Given the description of an element on the screen output the (x, y) to click on. 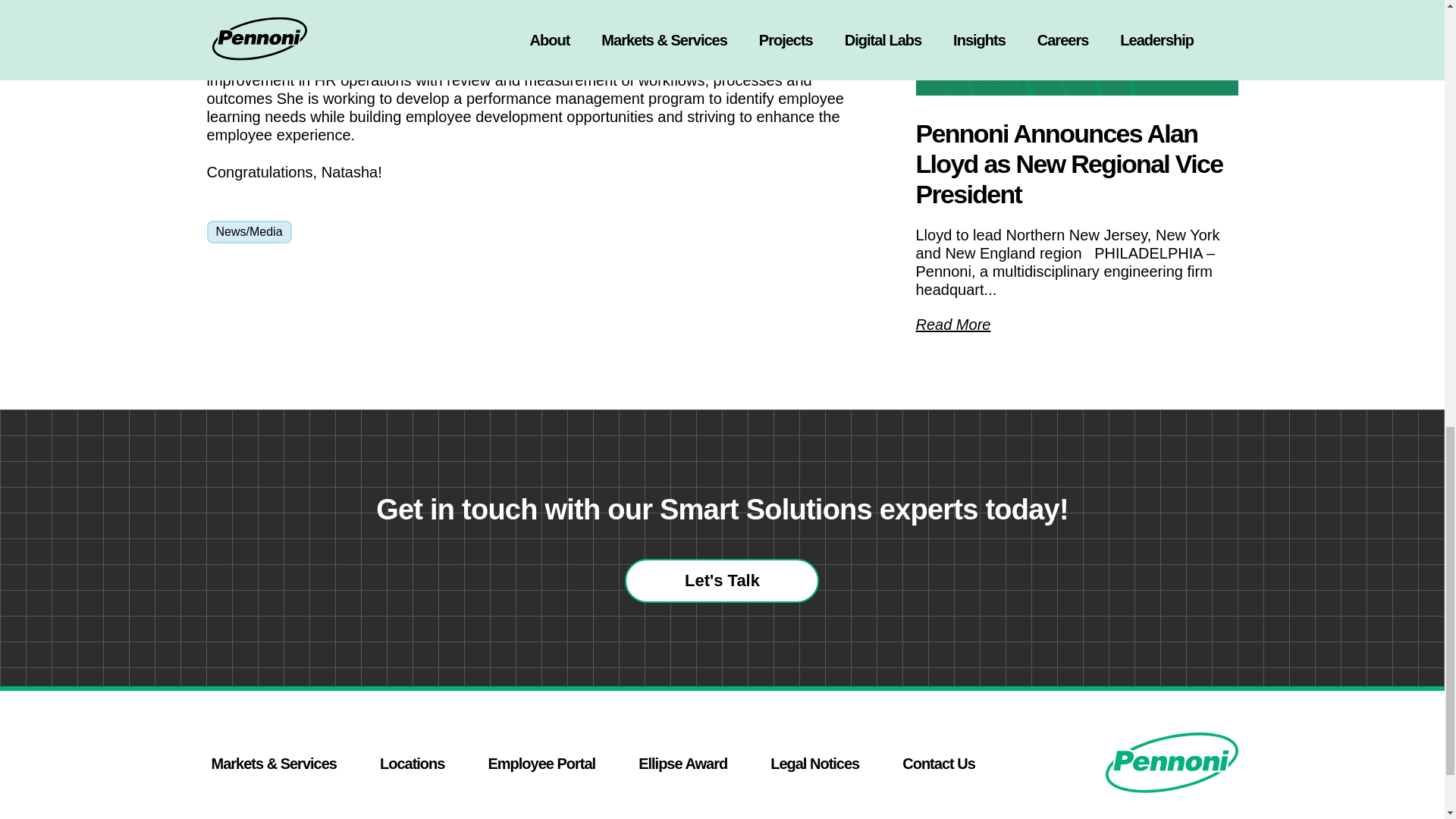
Let's Talk (721, 580)
Contact Us (938, 763)
Ellipse Award (682, 763)
Locations (411, 763)
Employee Portal (541, 763)
Legal Notices (814, 763)
